Given the description of an element on the screen output the (x, y) to click on. 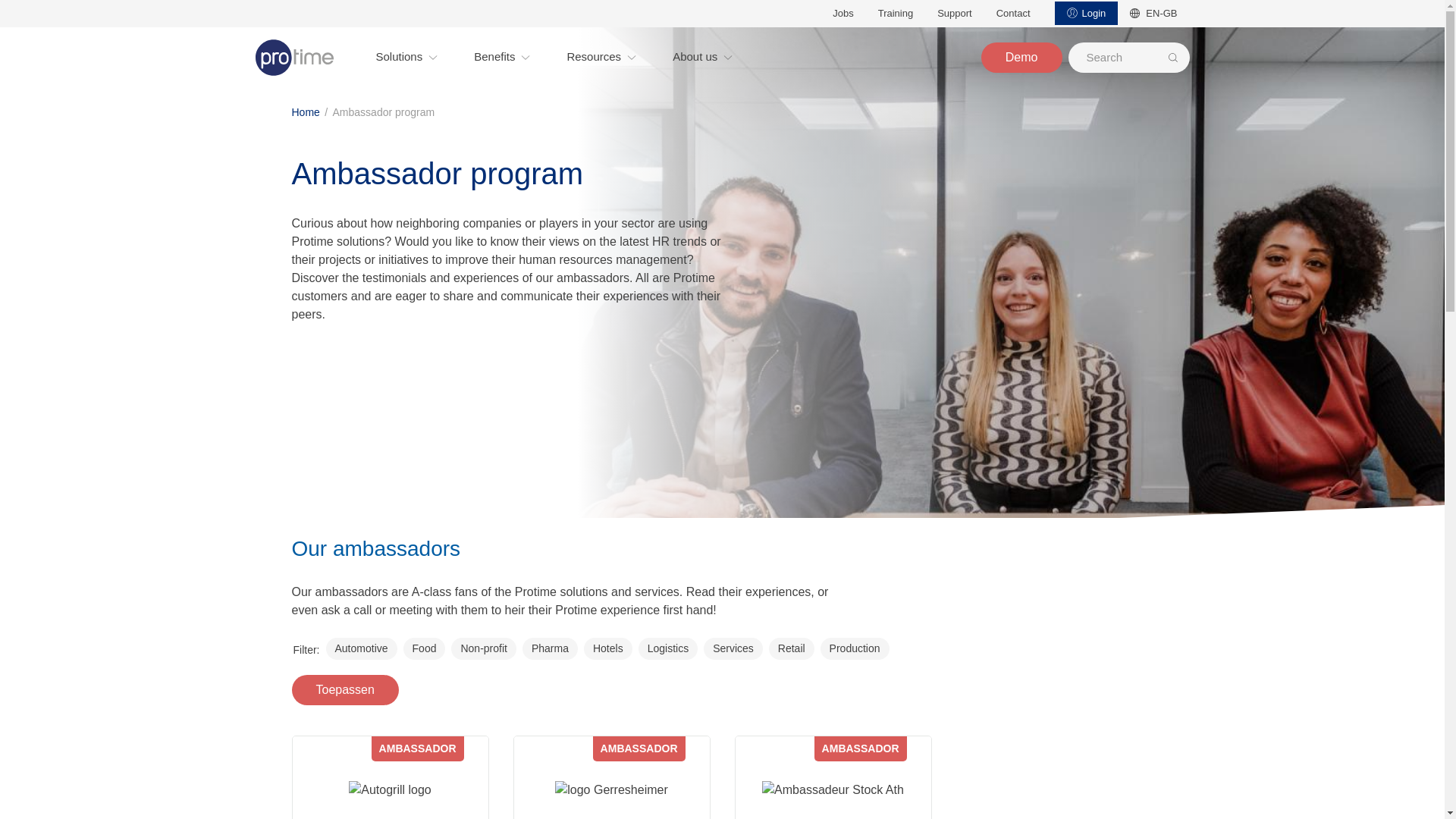
Resources (600, 57)
Training (895, 13)
Benefits (501, 57)
Home (293, 55)
